Given the description of an element on the screen output the (x, y) to click on. 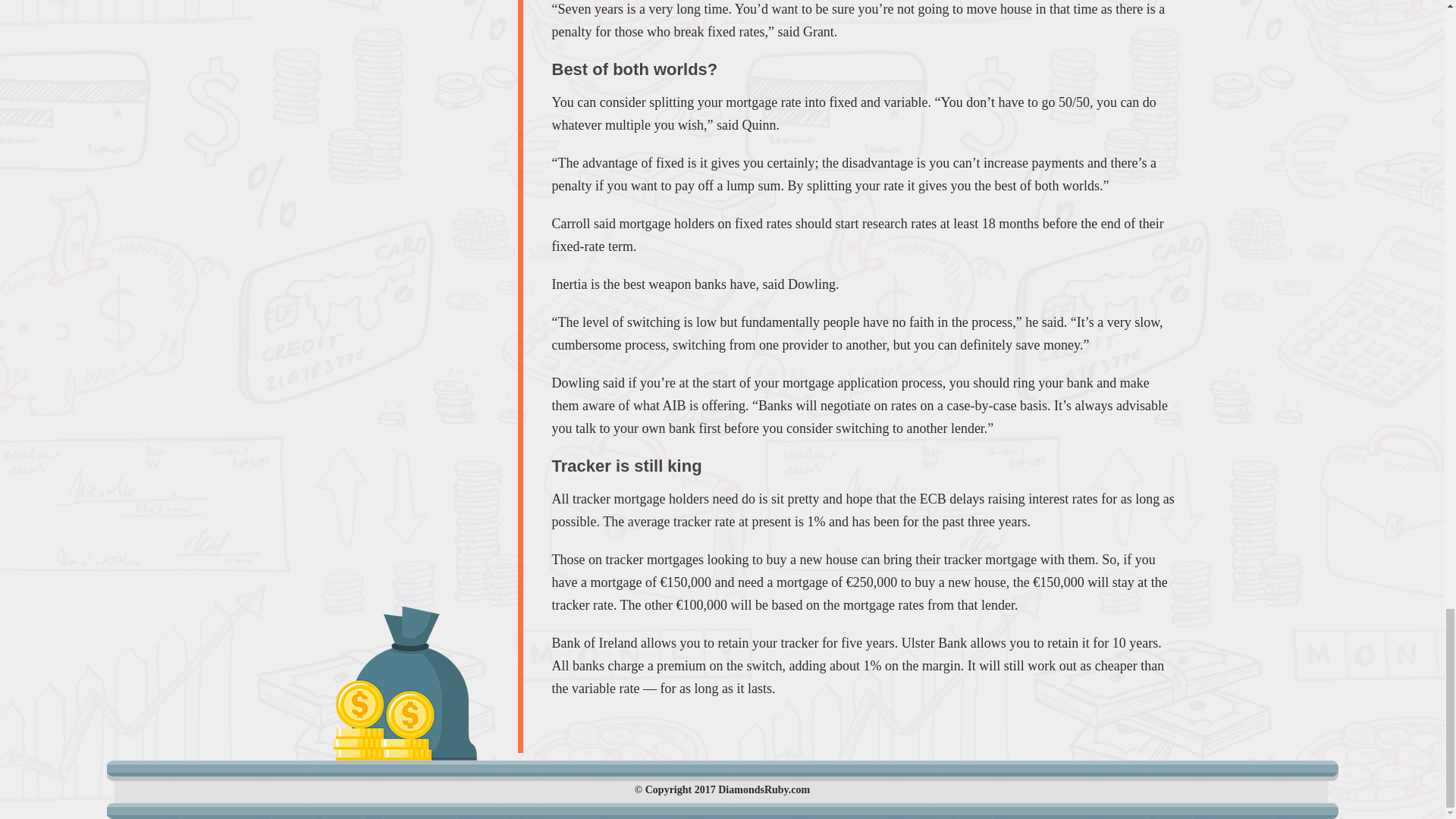
DiamondsRuby.com (763, 789)
